Given the description of an element on the screen output the (x, y) to click on. 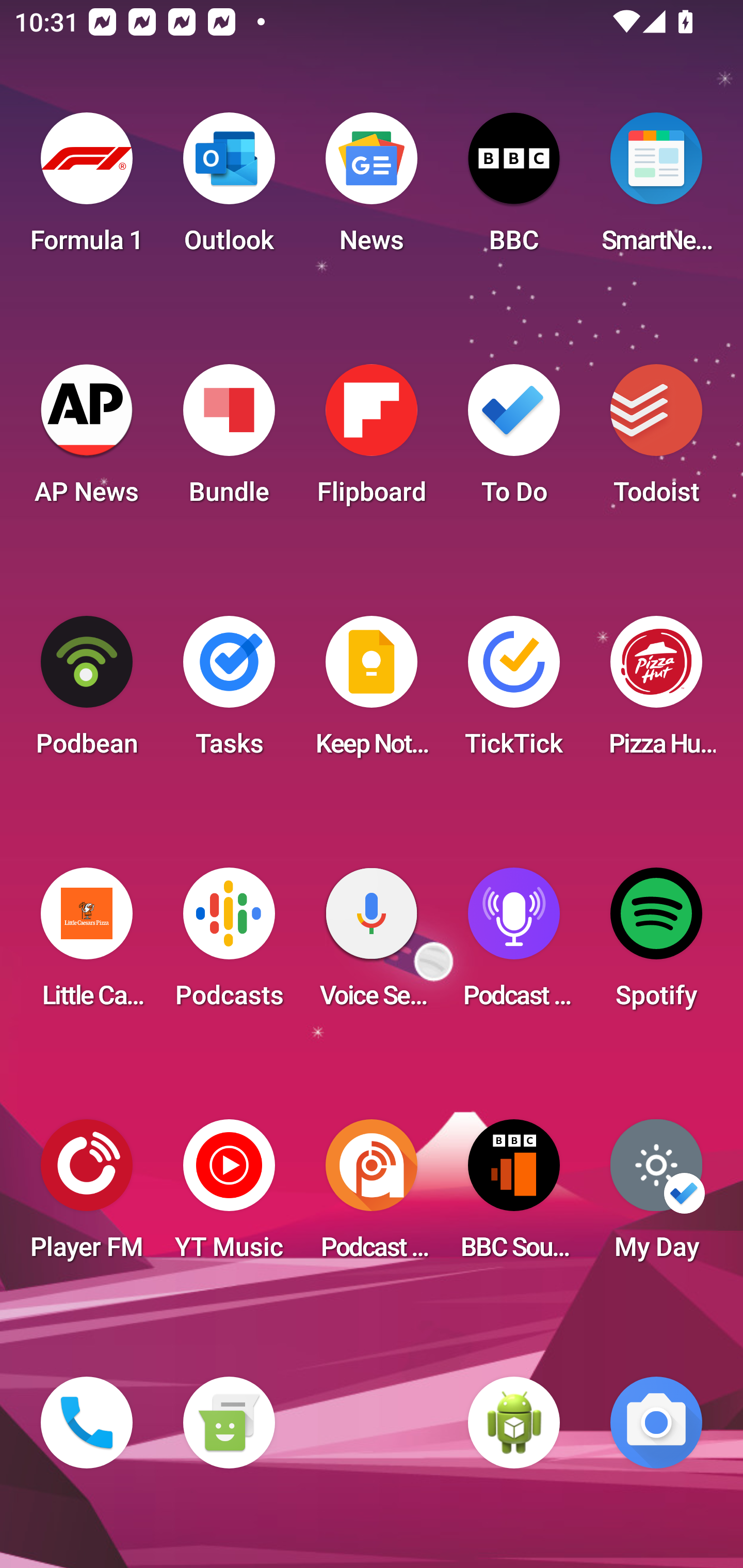
Formula 1 (86, 188)
Outlook (228, 188)
News (371, 188)
BBC (513, 188)
SmartNews (656, 188)
AP News (86, 440)
Bundle (228, 440)
Flipboard (371, 440)
To Do (513, 440)
Todoist (656, 440)
Podbean (86, 692)
Tasks (228, 692)
Keep Notes (371, 692)
TickTick (513, 692)
Pizza Hut HK & Macau (656, 692)
Little Caesars Pizza (86, 943)
Podcasts (228, 943)
Voice Search (371, 943)
Podcast Player (513, 943)
Spotify (656, 943)
Player FM (86, 1195)
YT Music (228, 1195)
Podcast Addict (371, 1195)
BBC Sounds (513, 1195)
My Day (656, 1195)
Phone (86, 1422)
Messaging (228, 1422)
WebView Browser Tester (513, 1422)
Camera (656, 1422)
